Given the description of an element on the screen output the (x, y) to click on. 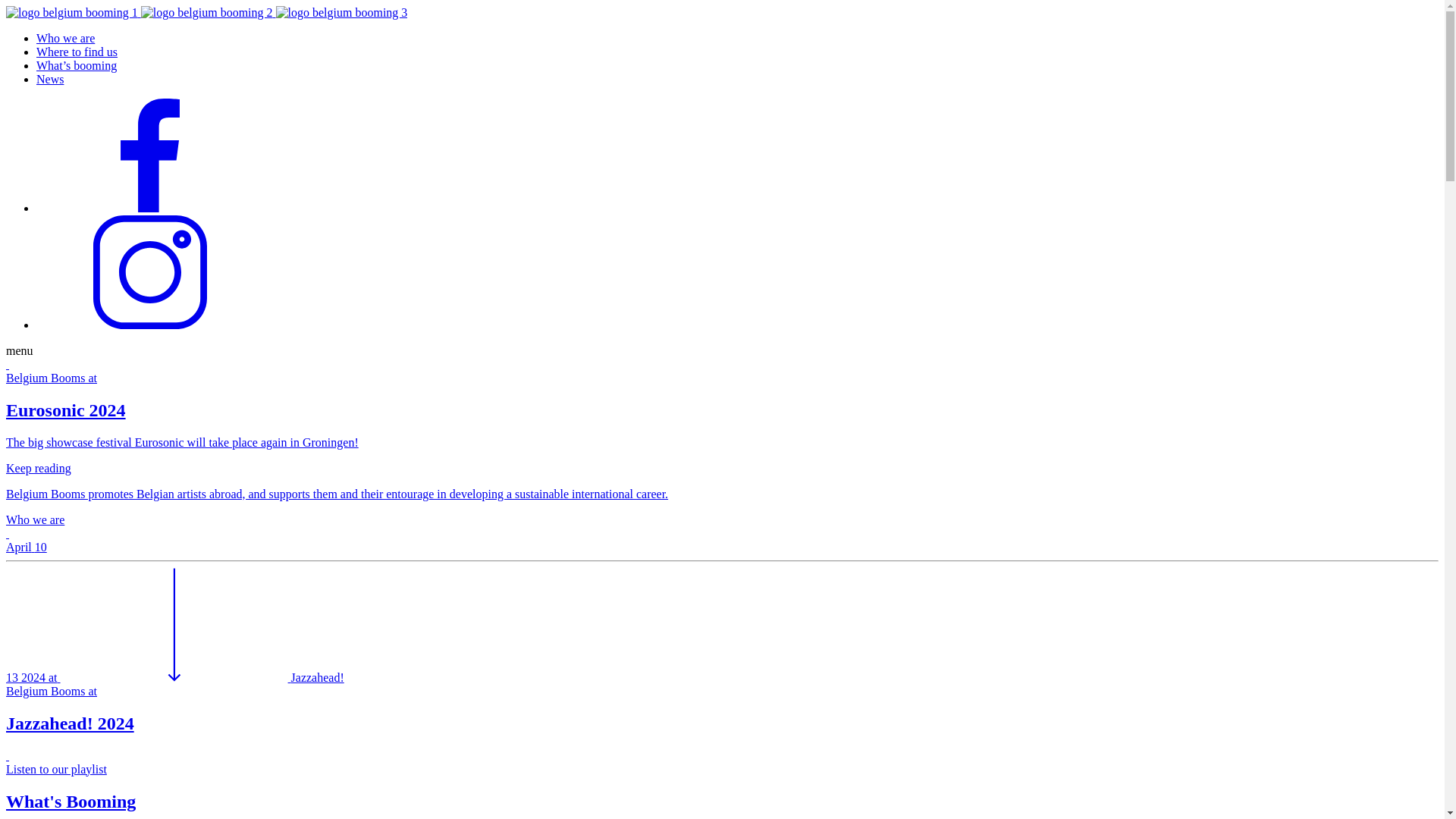
Where to find us Element type: text (76, 51)
Who we are Element type: text (65, 37)
News Element type: text (49, 78)
